Given the description of an element on the screen output the (x, y) to click on. 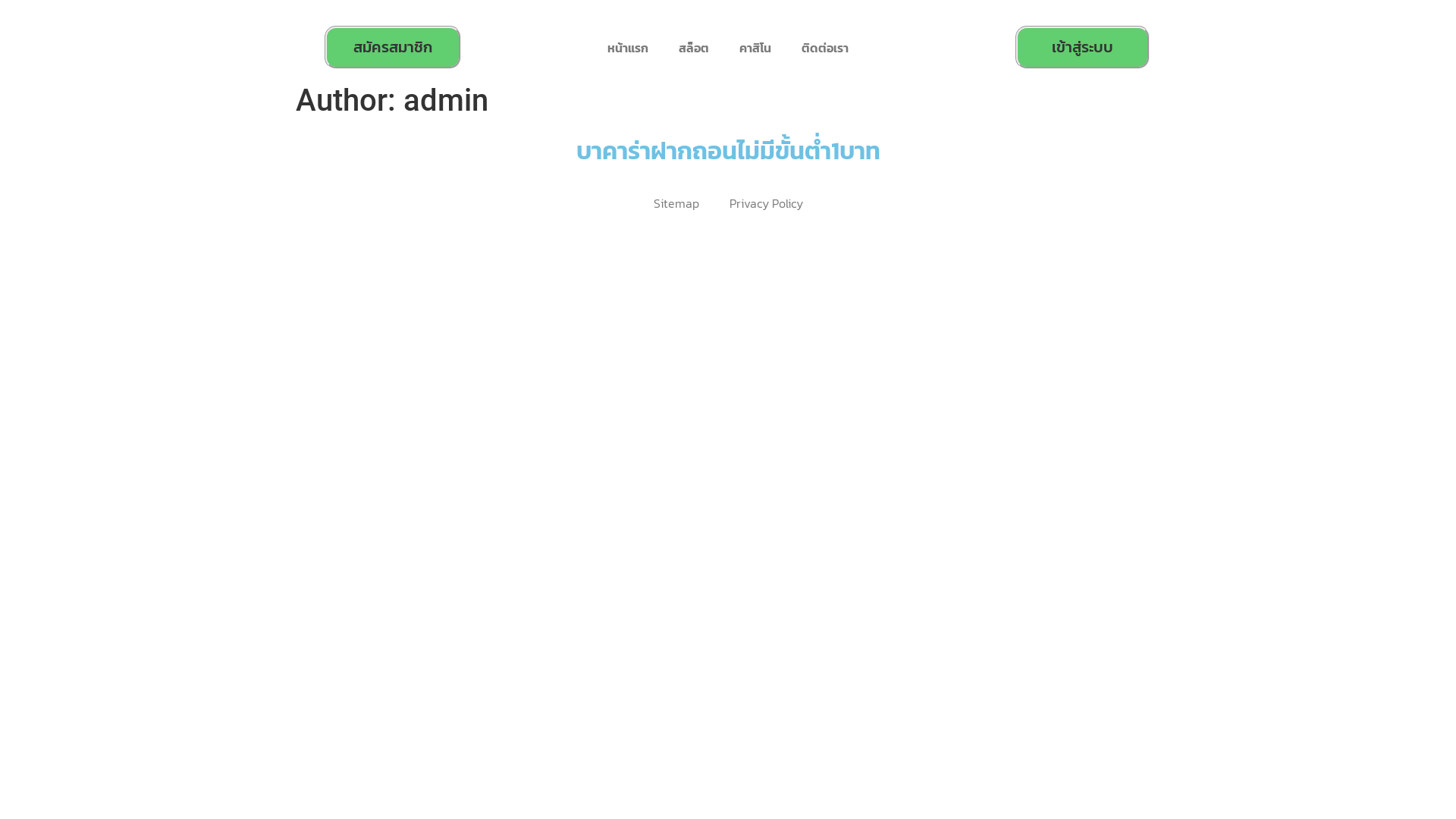
Privacy Policy Element type: text (766, 203)
Sitemap Element type: text (676, 203)
